Given the description of an element on the screen output the (x, y) to click on. 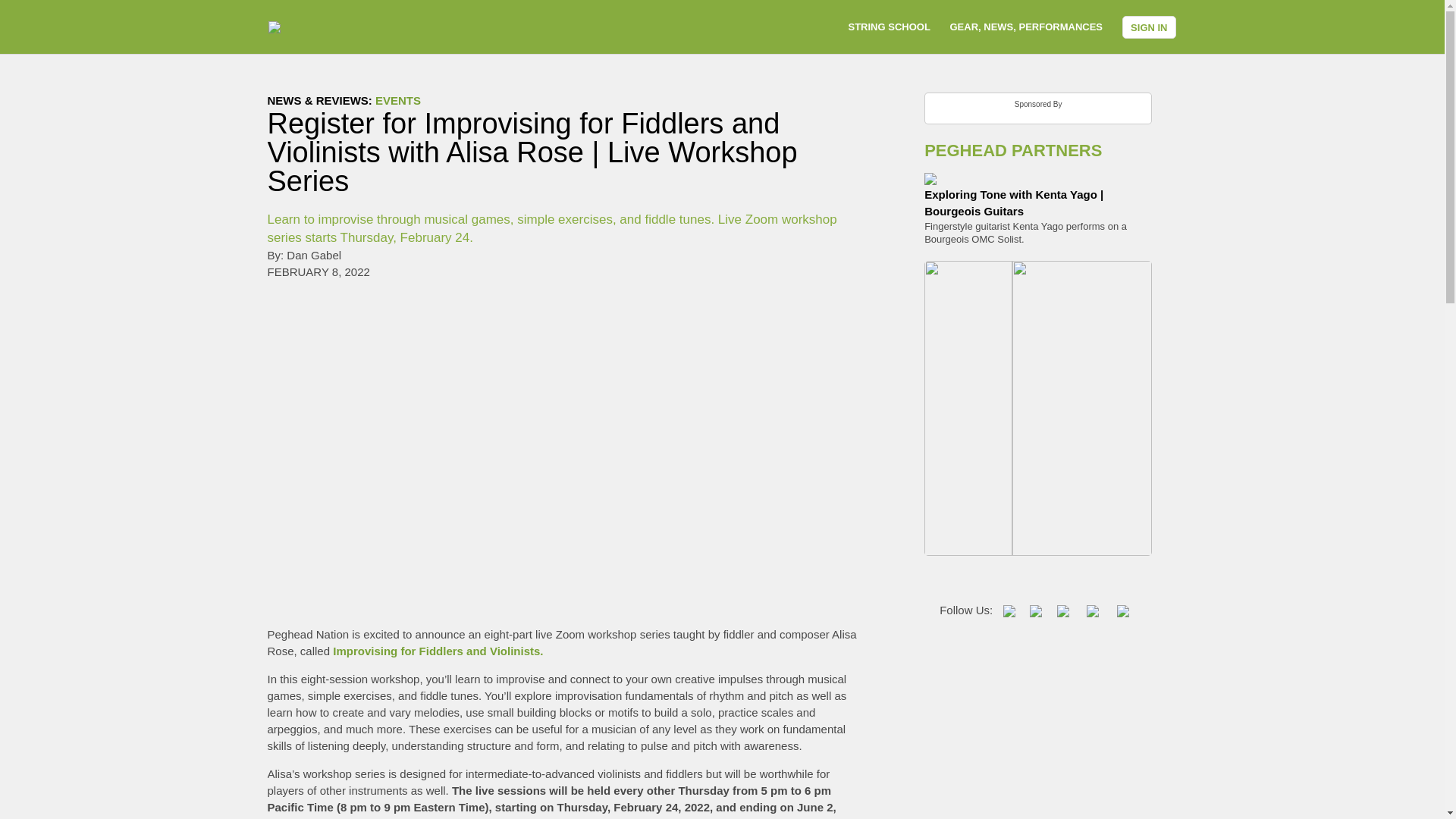
GEAR, NEWS, PERFORMANCES (1025, 26)
SIGN IN (1148, 26)
Improvising for Fiddlers and Violinists. (438, 650)
STRING SCHOOL (888, 26)
EVENTS (397, 100)
